Given the description of an element on the screen output the (x, y) to click on. 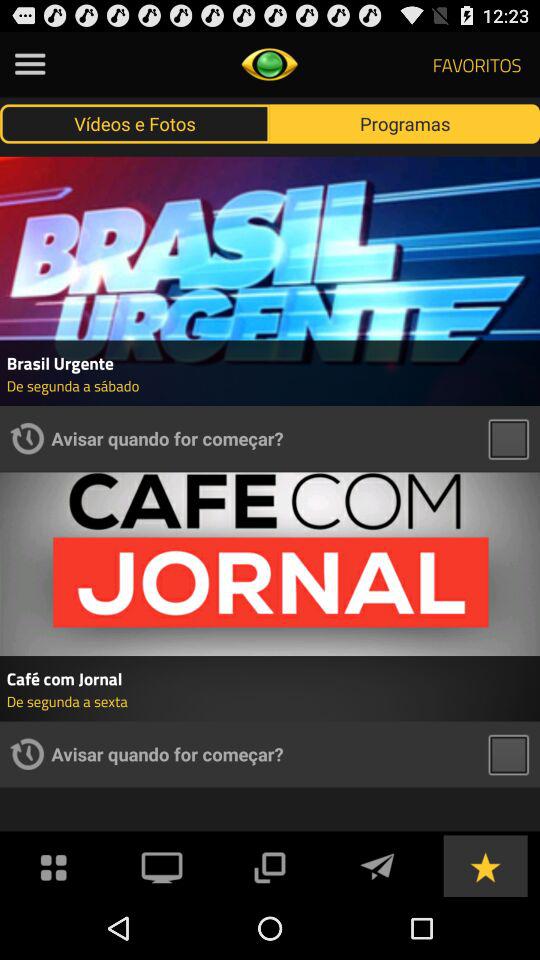
toggal avisar quando for comecar (508, 753)
